Given the description of an element on the screen output the (x, y) to click on. 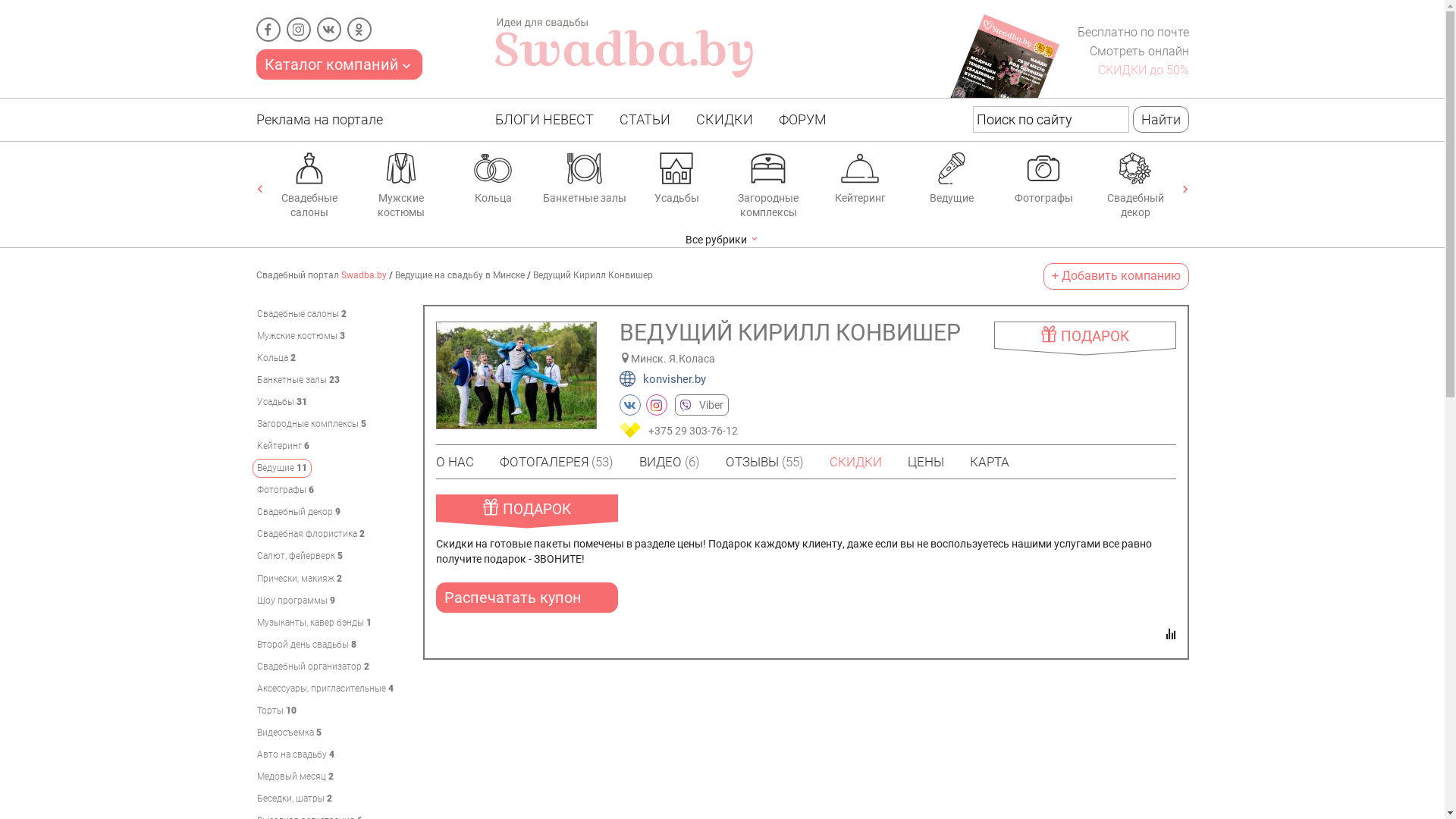
+375 29 303-76-12 Element type: text (694, 429)
Viber Element type: text (701, 404)
konvisher.by Element type: text (661, 378)
